Given the description of an element on the screen output the (x, y) to click on. 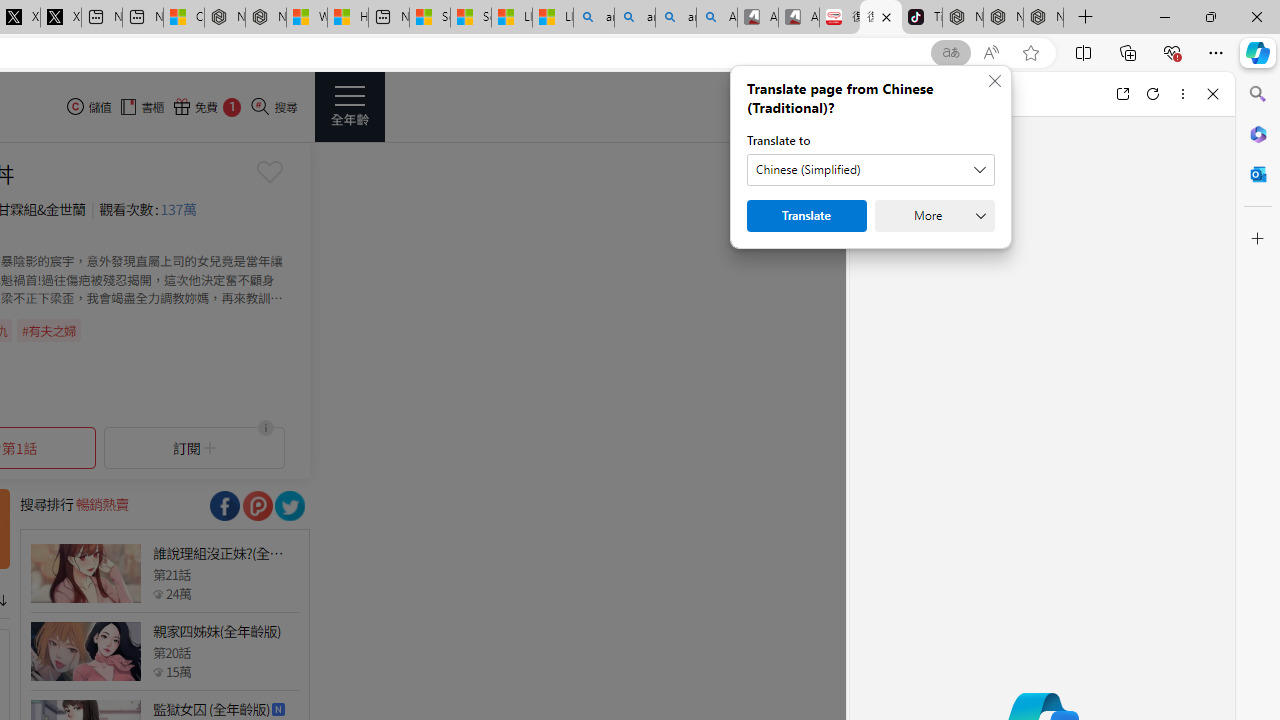
Compose (971, 93)
Huge shark washes ashore at New York City beach | Watch (347, 17)
Class: socialShare (289, 506)
More options (1182, 93)
Class: side_menu_btn actionRightMenuBtn (349, 106)
All Cubot phones (799, 17)
Show translate options (950, 53)
Nordace - Best Sellers (963, 17)
